Given the description of an element on the screen output the (x, y) to click on. 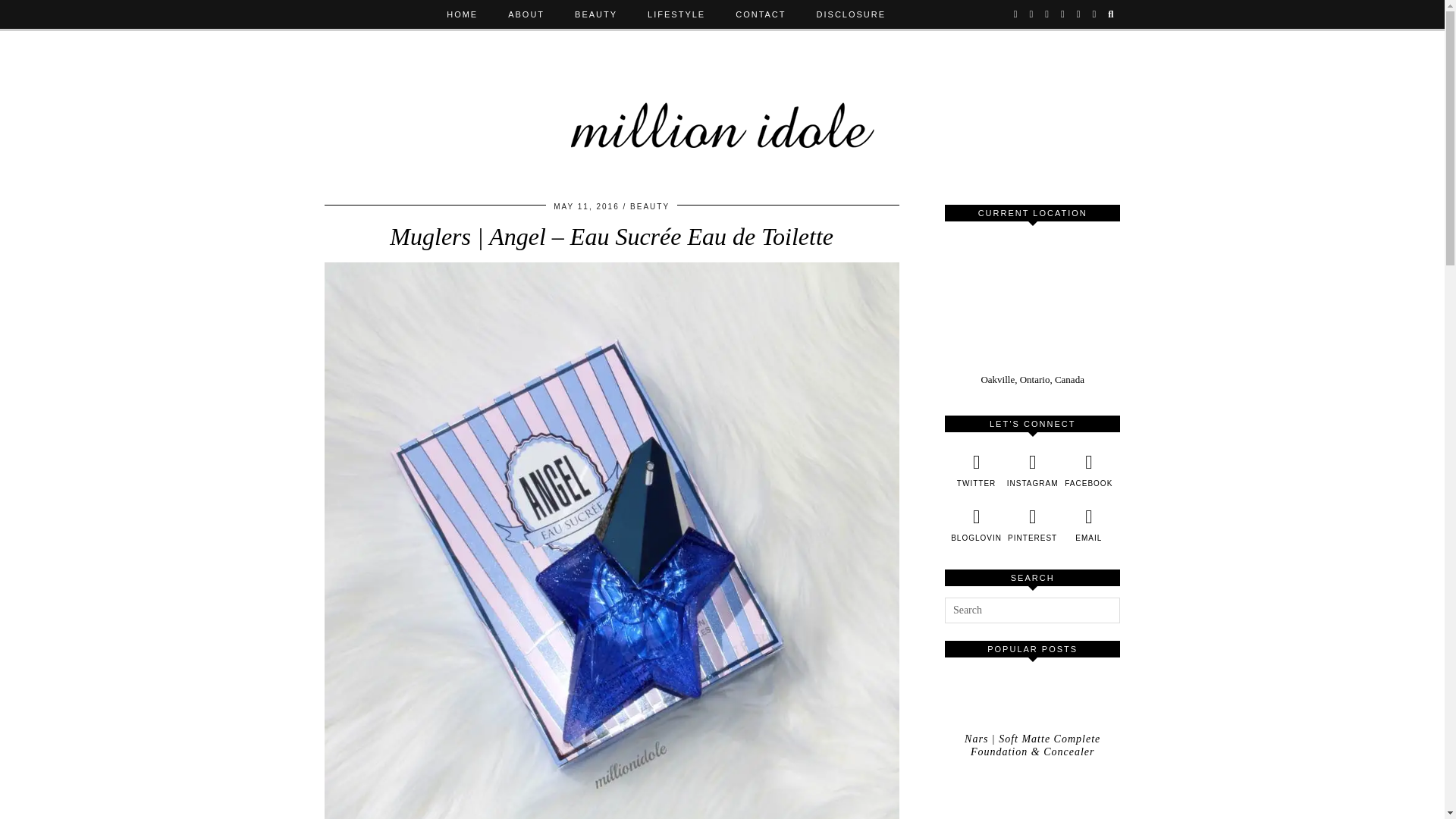
BEAUTY (595, 14)
LIFESTYLE (675, 14)
HOME (461, 14)
Million Idole (722, 111)
ABOUT (526, 14)
